Given the description of an element on the screen output the (x, y) to click on. 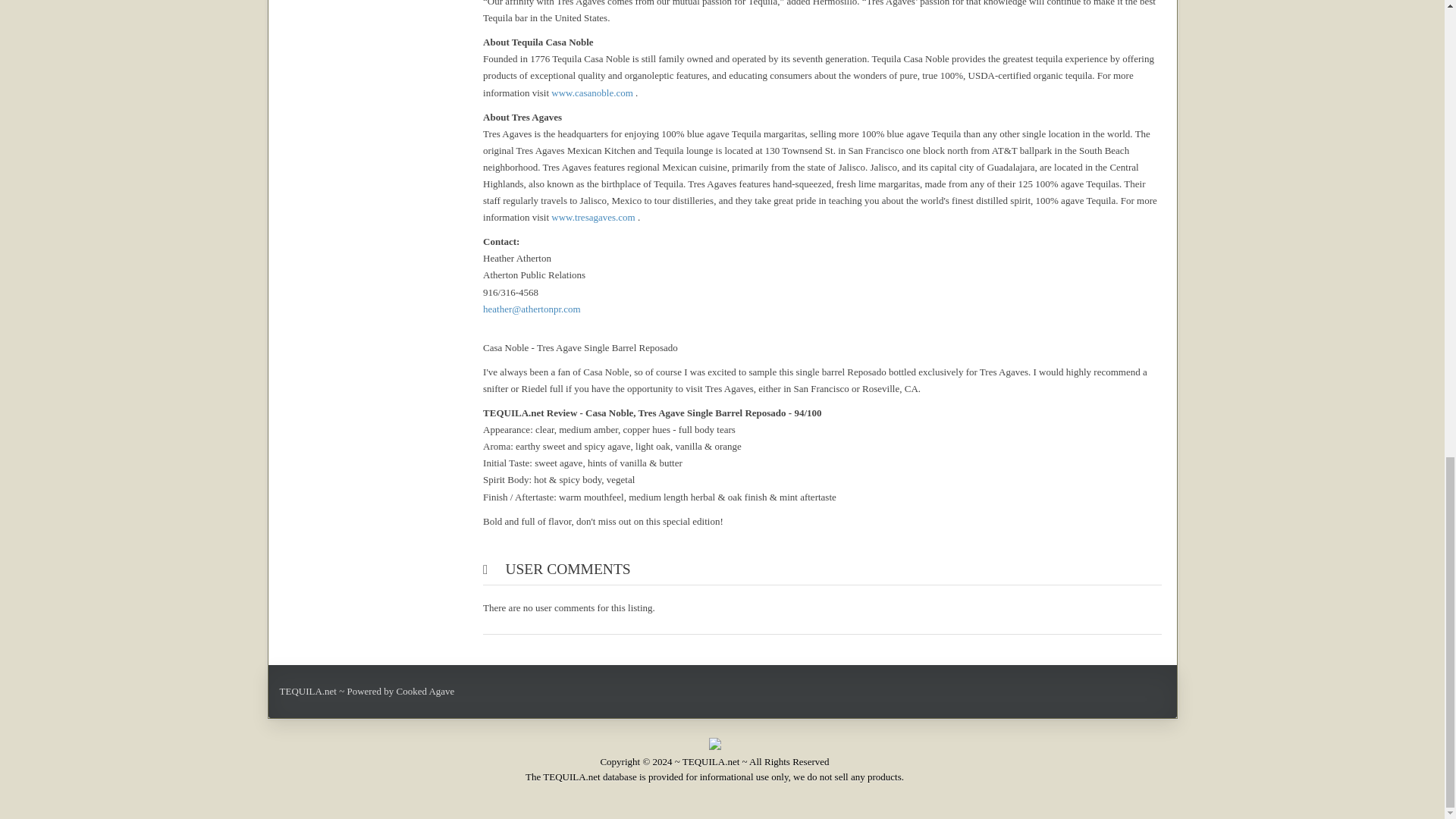
Casa Noble (591, 92)
Tres Agaves (592, 216)
